Given the description of an element on the screen output the (x, y) to click on. 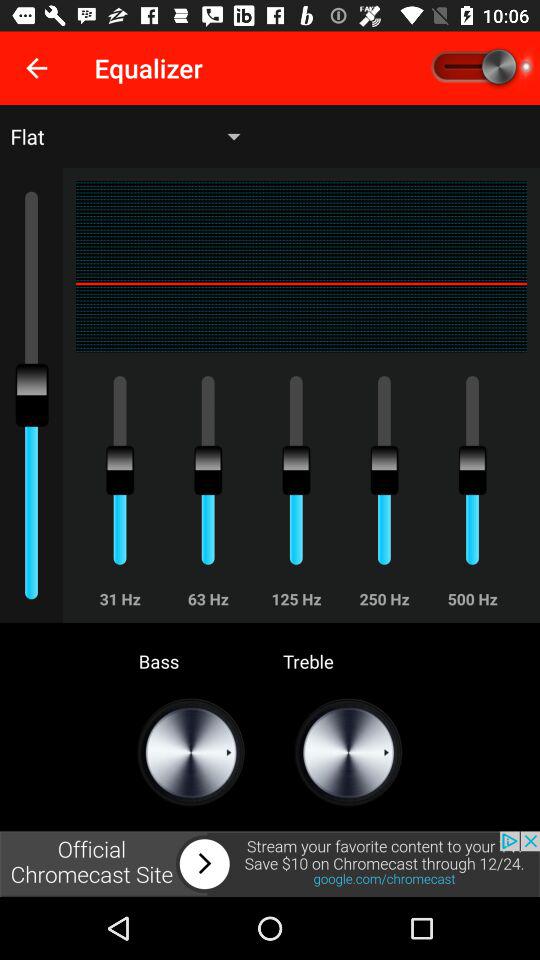
volume control (480, 68)
